Given the description of an element on the screen output the (x, y) to click on. 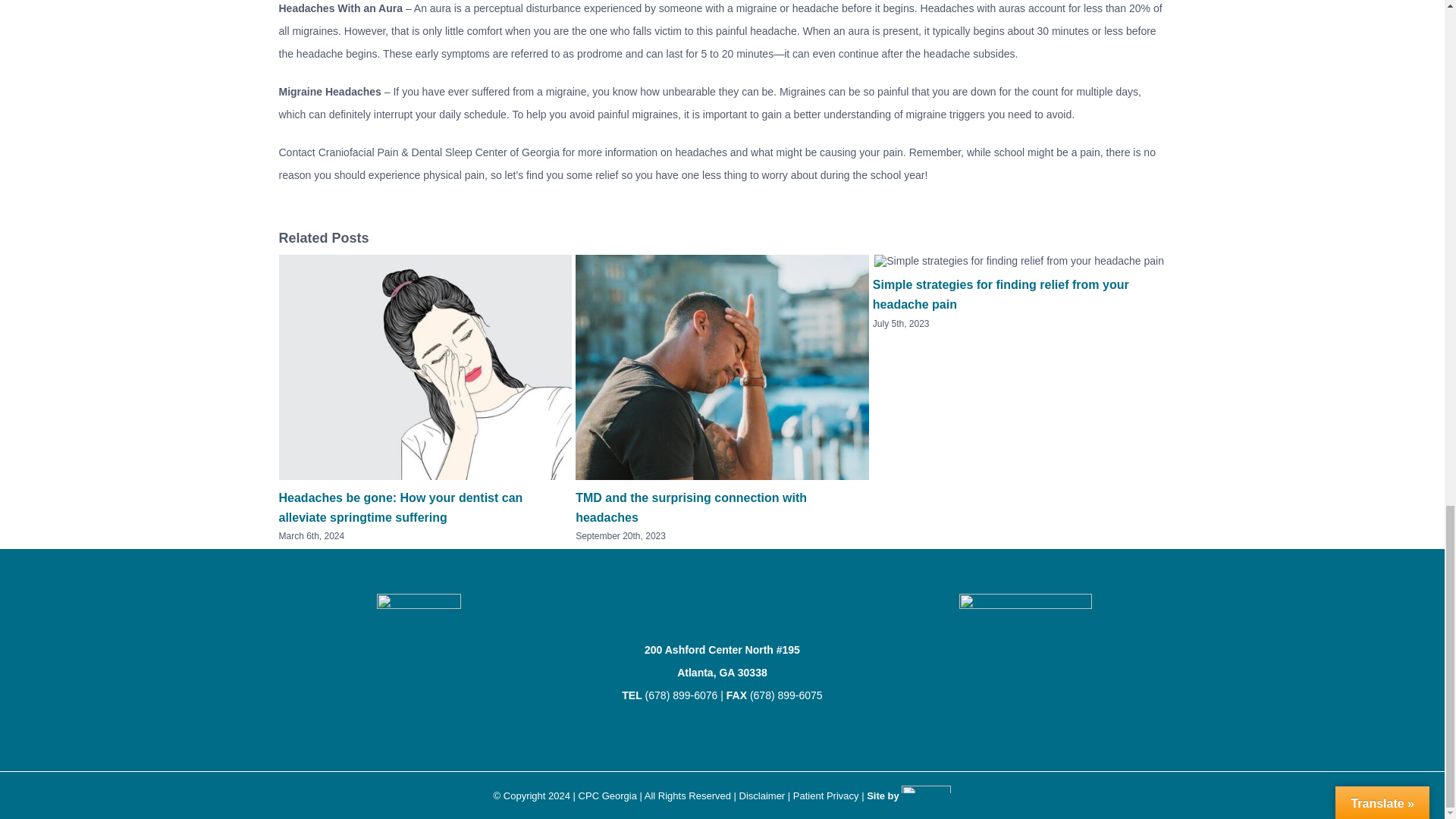
Simple strategies for finding relief from your headache pain (1000, 294)
